Given the description of an element on the screen output the (x, y) to click on. 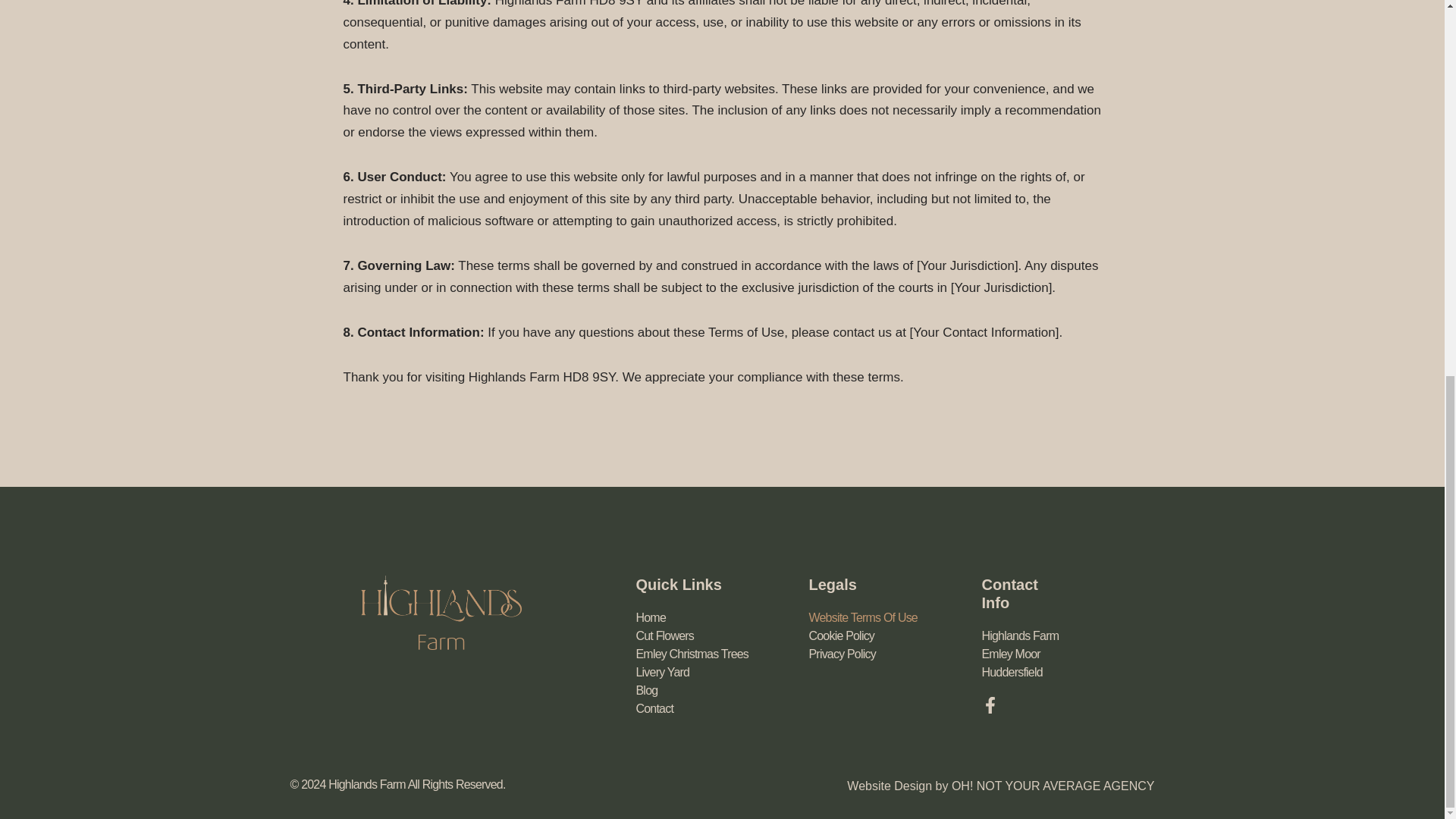
Home (721, 618)
Privacy Policy (894, 654)
Blog (721, 690)
Contact (721, 709)
Website Terms Of Use (894, 618)
Emley Christmas Trees (721, 654)
Cut Flowers (721, 636)
Livery Yard (721, 672)
OH! NOT YOUR AVERAGE AGENCY (1053, 785)
Cookie Policy (894, 636)
